Given the description of an element on the screen output the (x, y) to click on. 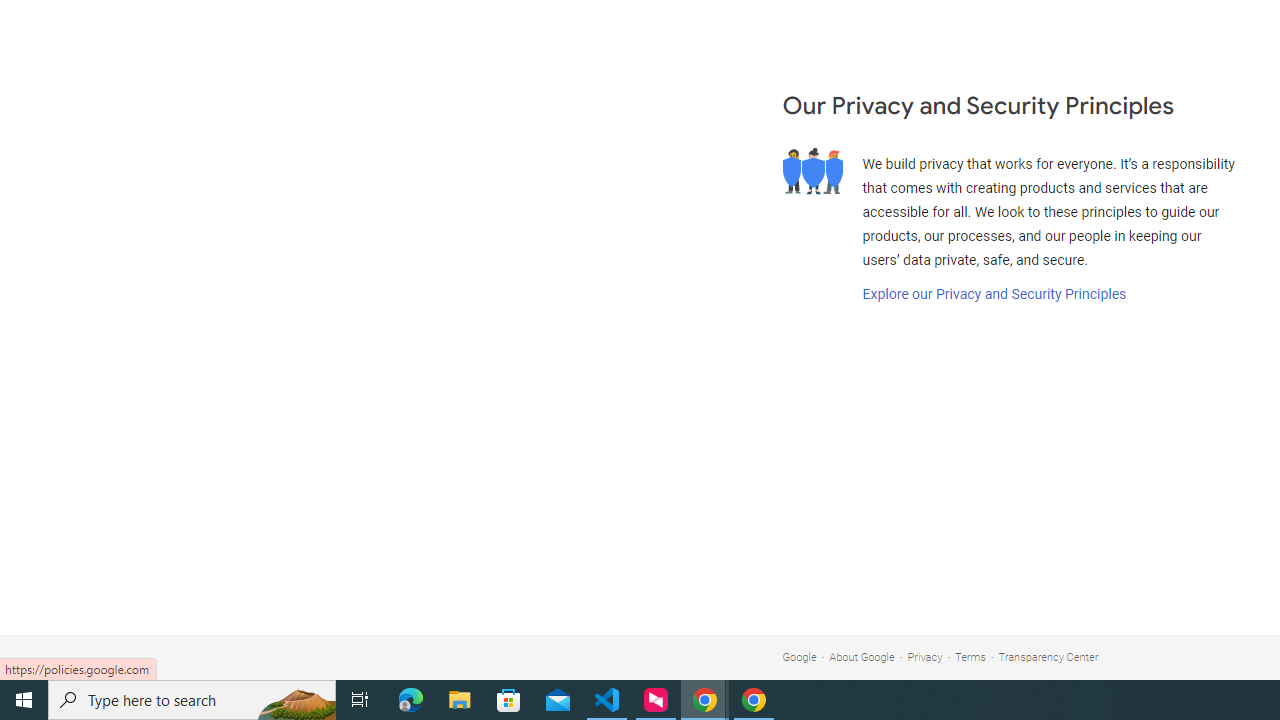
About Google (861, 656)
Explore our Privacy and Security Principles (993, 294)
Terms (969, 656)
Privacy (925, 656)
Transparency Center (1048, 656)
Google (799, 656)
